Given the description of an element on the screen output the (x, y) to click on. 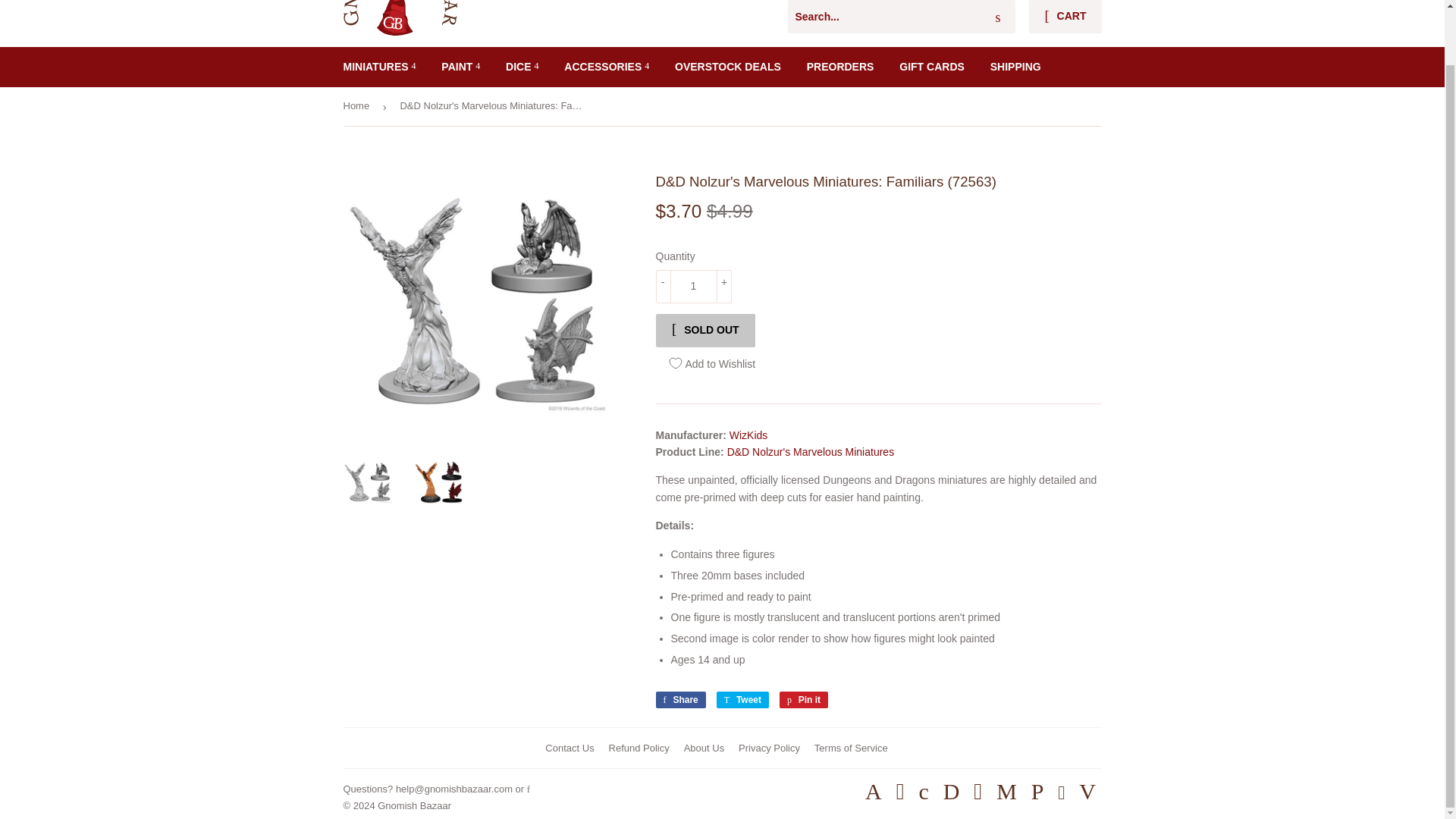
1 (692, 286)
Go (997, 17)
Share on Facebook (679, 699)
Add to Wishlist (711, 363)
CART (1064, 16)
Pin on Pinterest (803, 699)
Manufacturer: WizKids (748, 435)
Tweet on Twitter (742, 699)
